Given the description of an element on the screen output the (x, y) to click on. 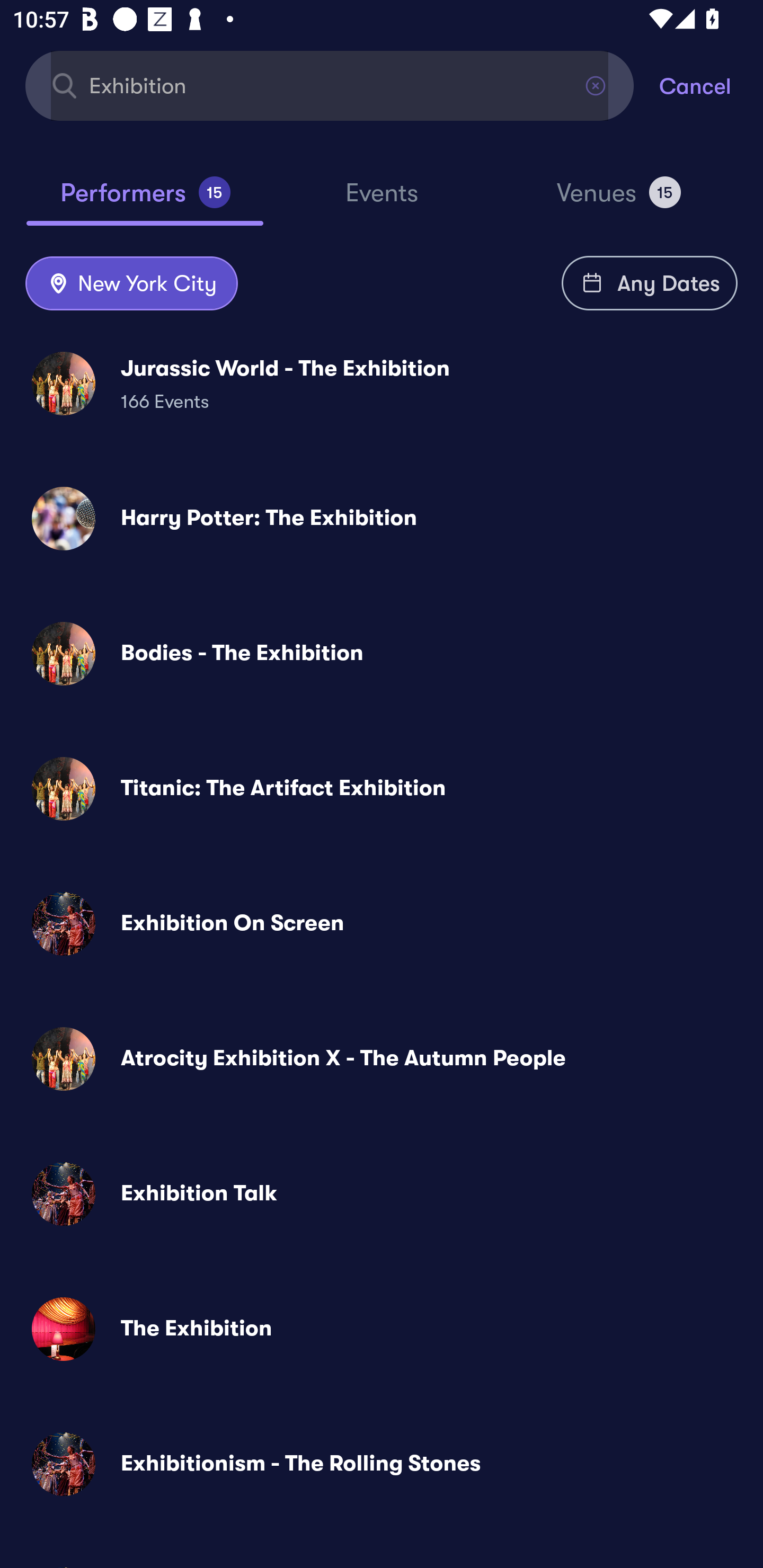
Exhibition Find (329, 85)
Exhibition Find (329, 85)
Cancel (711, 85)
Performers 15 (144, 200)
Venues 15 (618, 200)
Events (381, 201)
Any Dates (649, 282)
New York City (131, 283)
Jurassic World - The Exhibition 166 Events (381, 383)
Harry Potter: The Exhibition (381, 518)
Bodies - The Exhibition (381, 652)
Titanic: The Artifact Exhibition (381, 788)
Exhibition On Screen (381, 924)
Atrocity Exhibition X - The Autumn People (381, 1059)
Exhibition Talk (381, 1193)
The Exhibition (381, 1328)
Exhibitionism - The Rolling Stones (381, 1463)
